Given the description of an element on the screen output the (x, y) to click on. 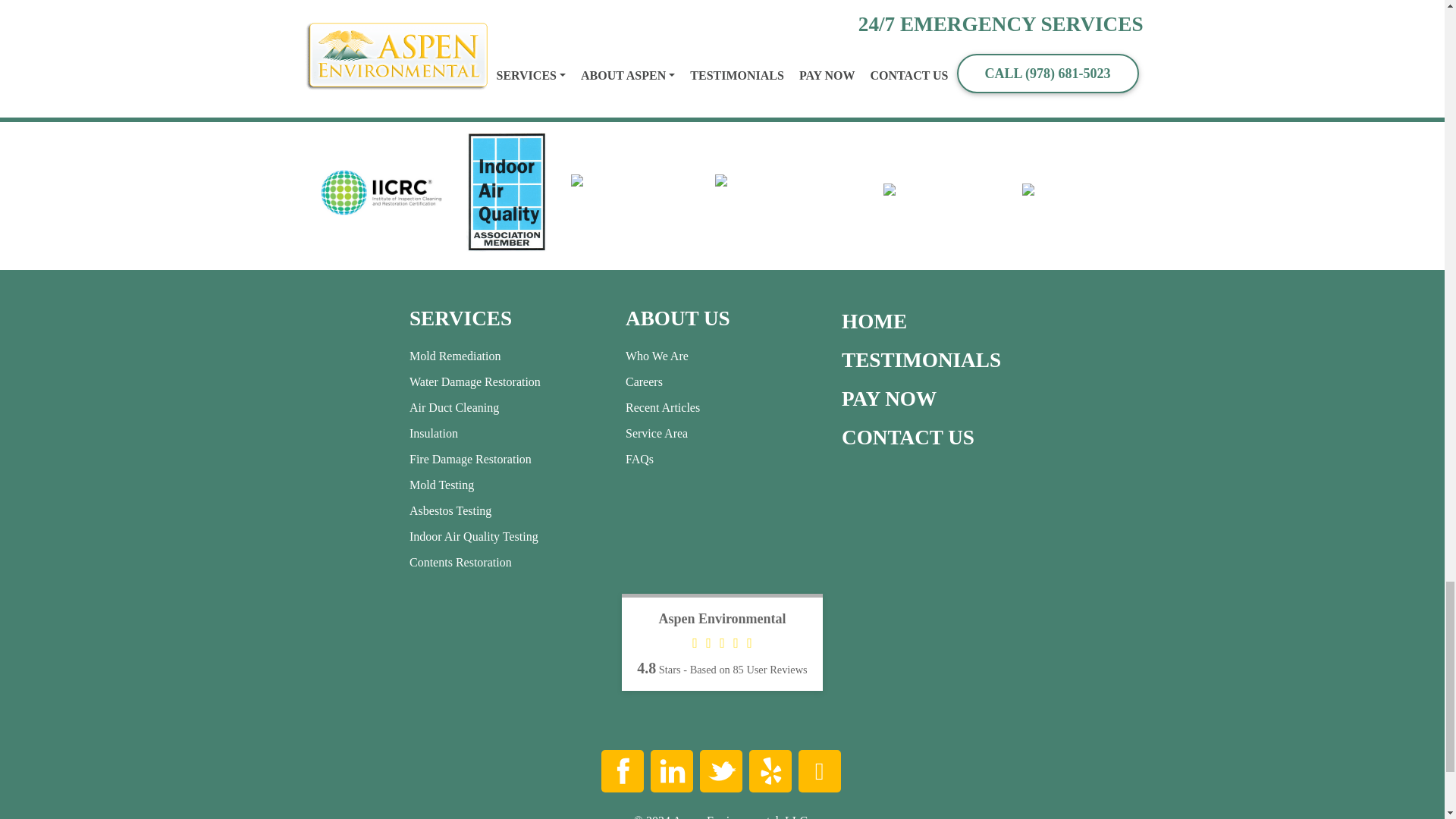
Air Duct Cleaning (468, 0)
allergens (545, 0)
commercial air duct cleaning (577, 9)
allergies (598, 0)
asthma (645, 0)
Building ventilation (721, 0)
AeroSeal duct sealing (360, 0)
